Given the description of an element on the screen output the (x, y) to click on. 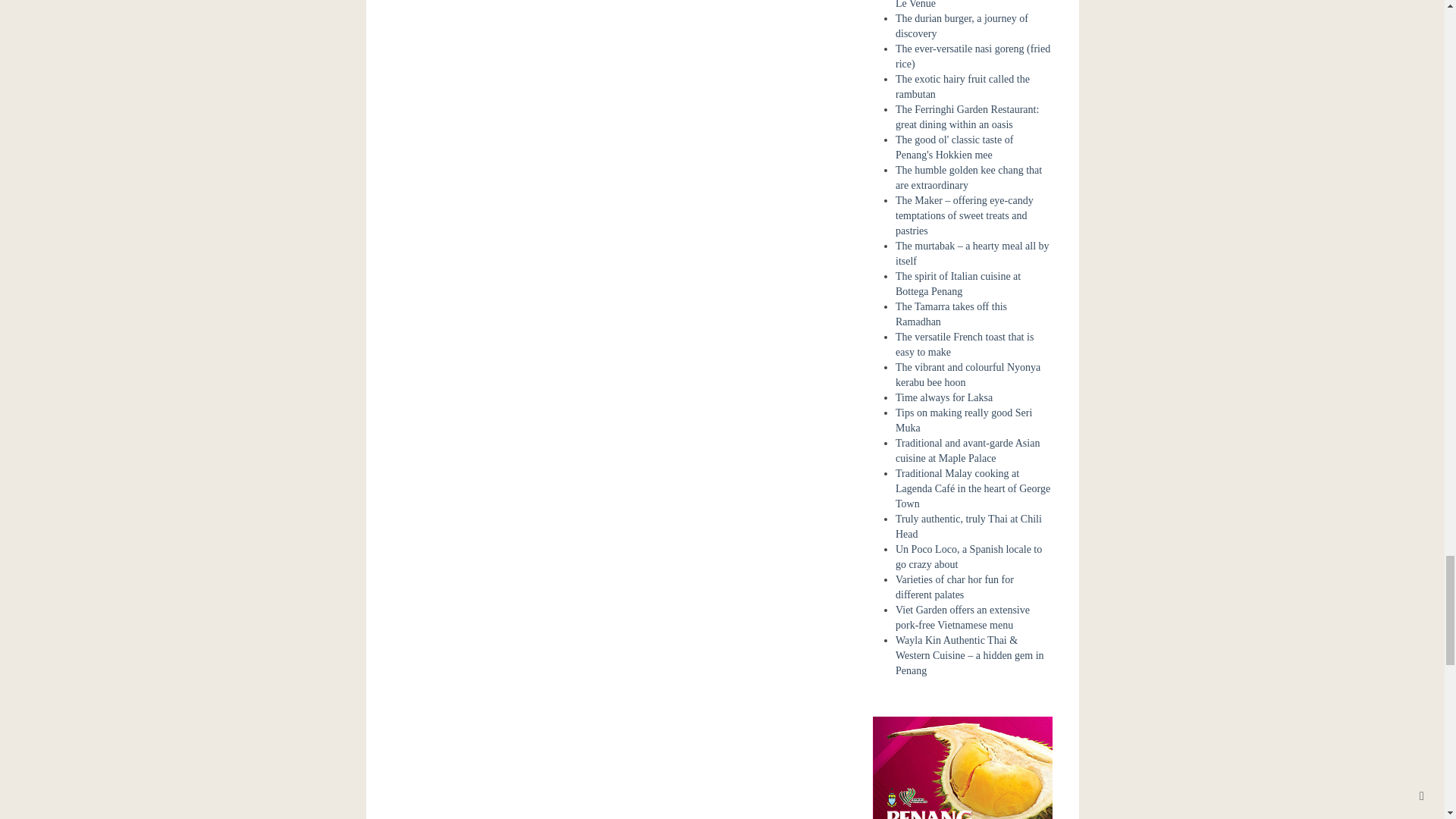
Penang Best Durian (962, 802)
